Given the description of an element on the screen output the (x, y) to click on. 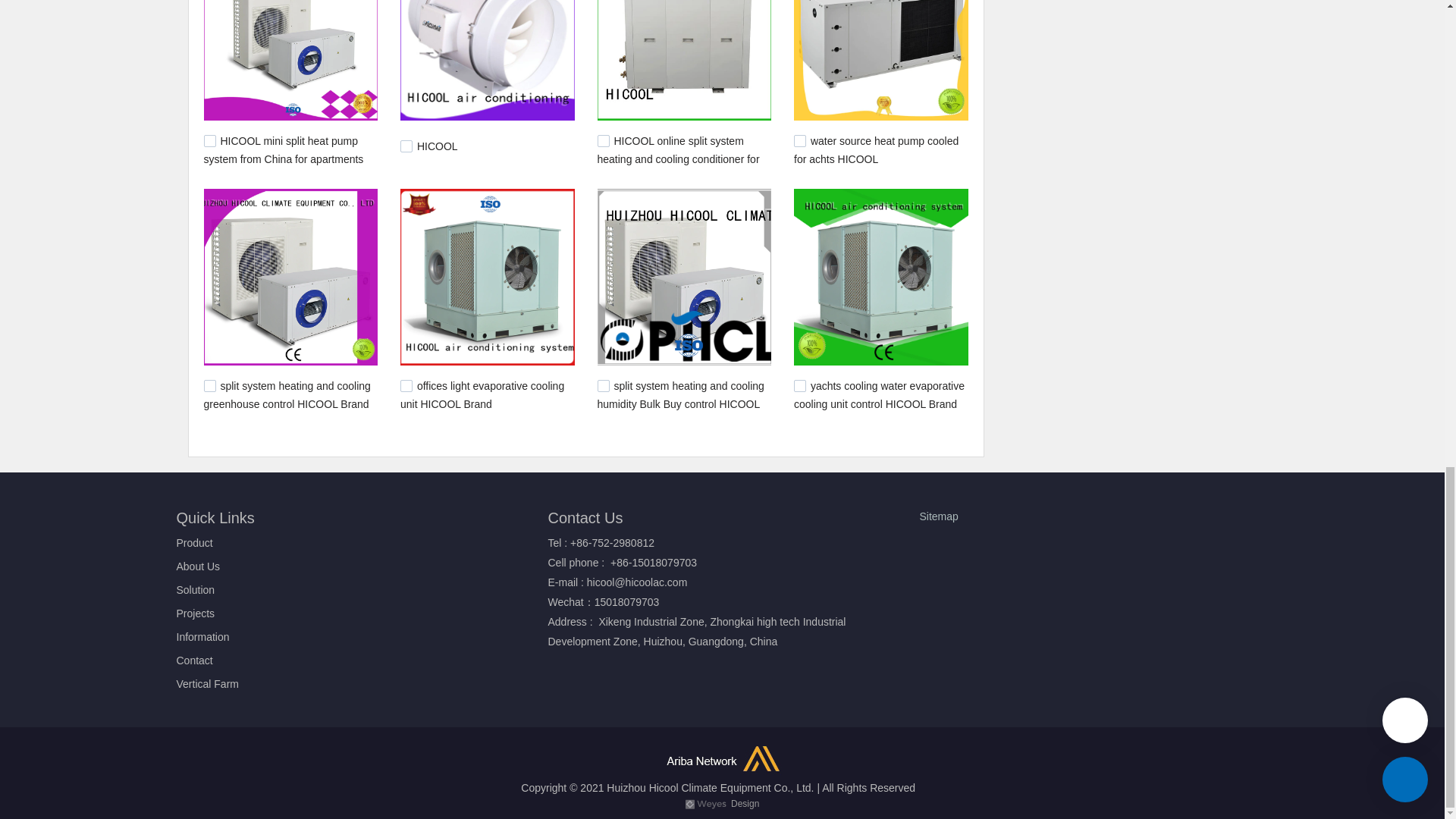
743 (406, 386)
HICOOL (437, 146)
2728 (603, 141)
HICOOL mini split heat pump system from China for apartments (282, 150)
662 (603, 386)
water source heat pump cooled for achts HICOOL (875, 150)
757 (209, 386)
5676 (406, 146)
5696 (209, 141)
offices light evaporative cooling unit HICOOL Brand (482, 395)
648 (799, 386)
